Given the description of an element on the screen output the (x, y) to click on. 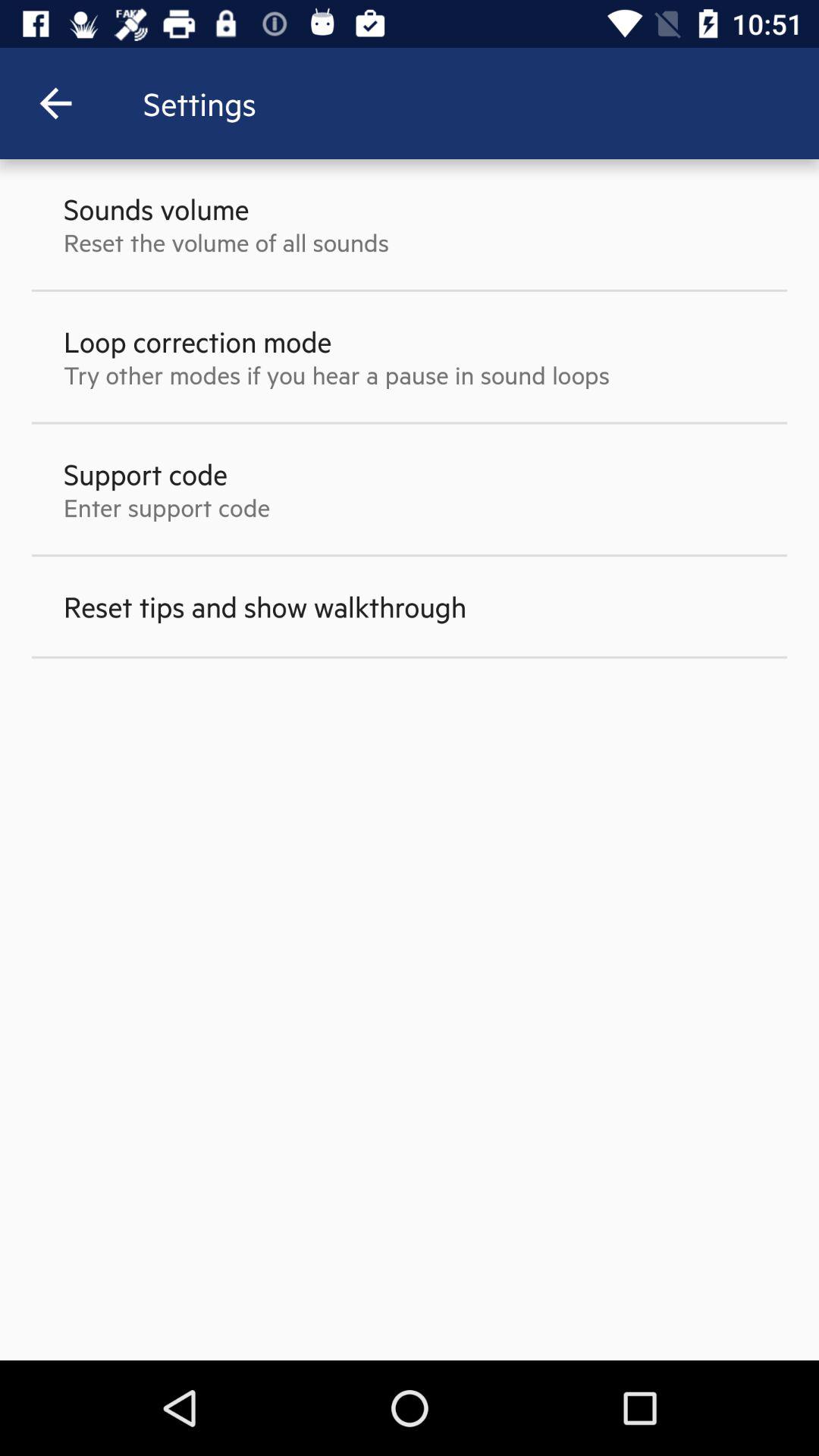
turn off the icon below enter support code item (264, 606)
